Given the description of an element on the screen output the (x, y) to click on. 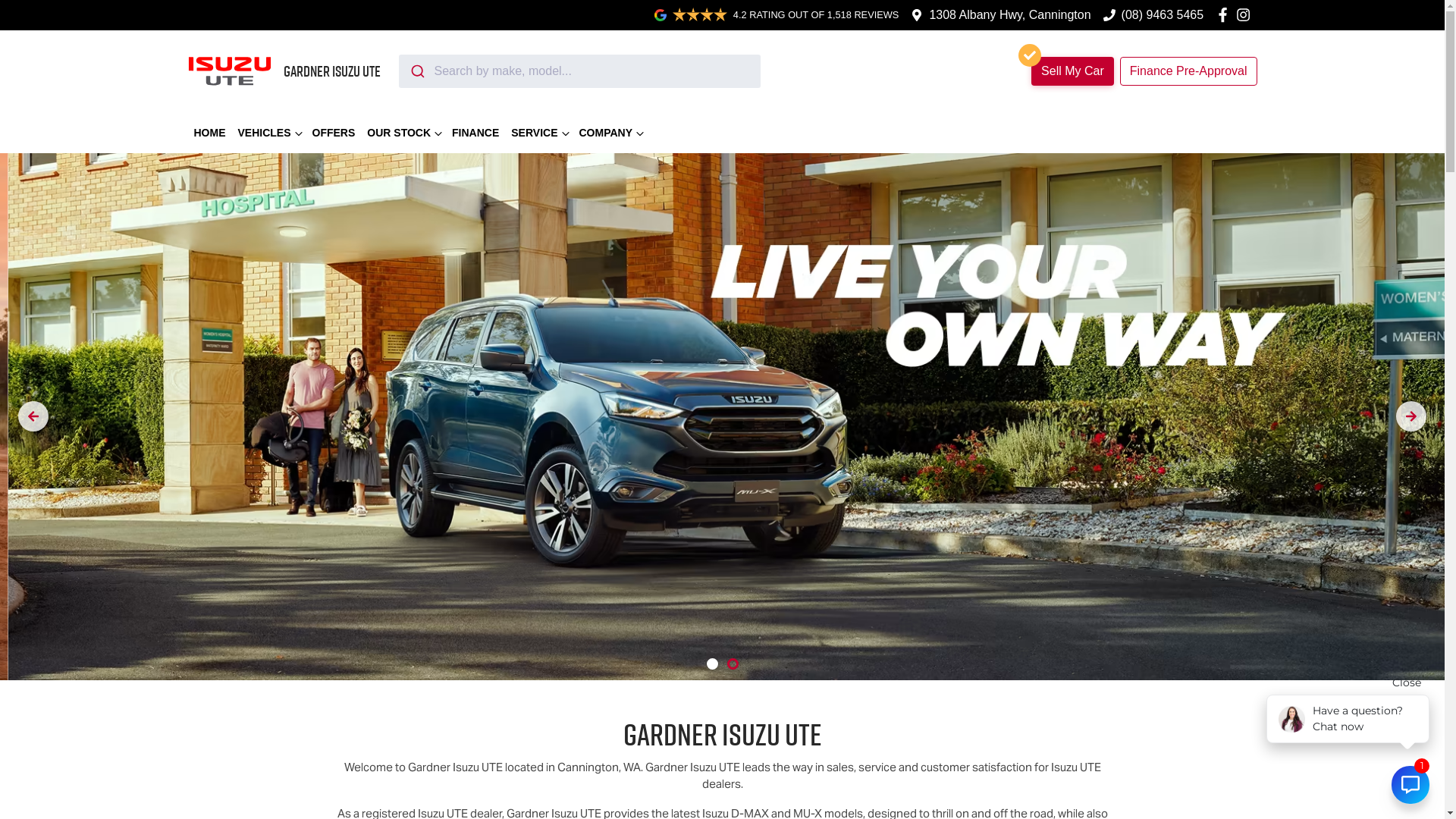
SERVICE Element type: text (538, 133)
FINANCE Element type: text (475, 133)
(08) 9463 5465 Element type: text (1162, 14)
OFFERS Element type: text (333, 133)
1308 Albany Hwy, Cannington Element type: text (1009, 14)
Sell My Car Element type: text (1072, 70)
GARDNER ISUZU UTE Element type: text (284, 71)
Submit Element type: hover (416, 70)
Finance Pre-Approval Element type: text (1188, 70)
VEHICLES Element type: text (269, 133)
HOME Element type: text (210, 133)
COMPANY Element type: text (610, 133)
OUR STOCK Element type: text (402, 133)
